Given the description of an element on the screen output the (x, y) to click on. 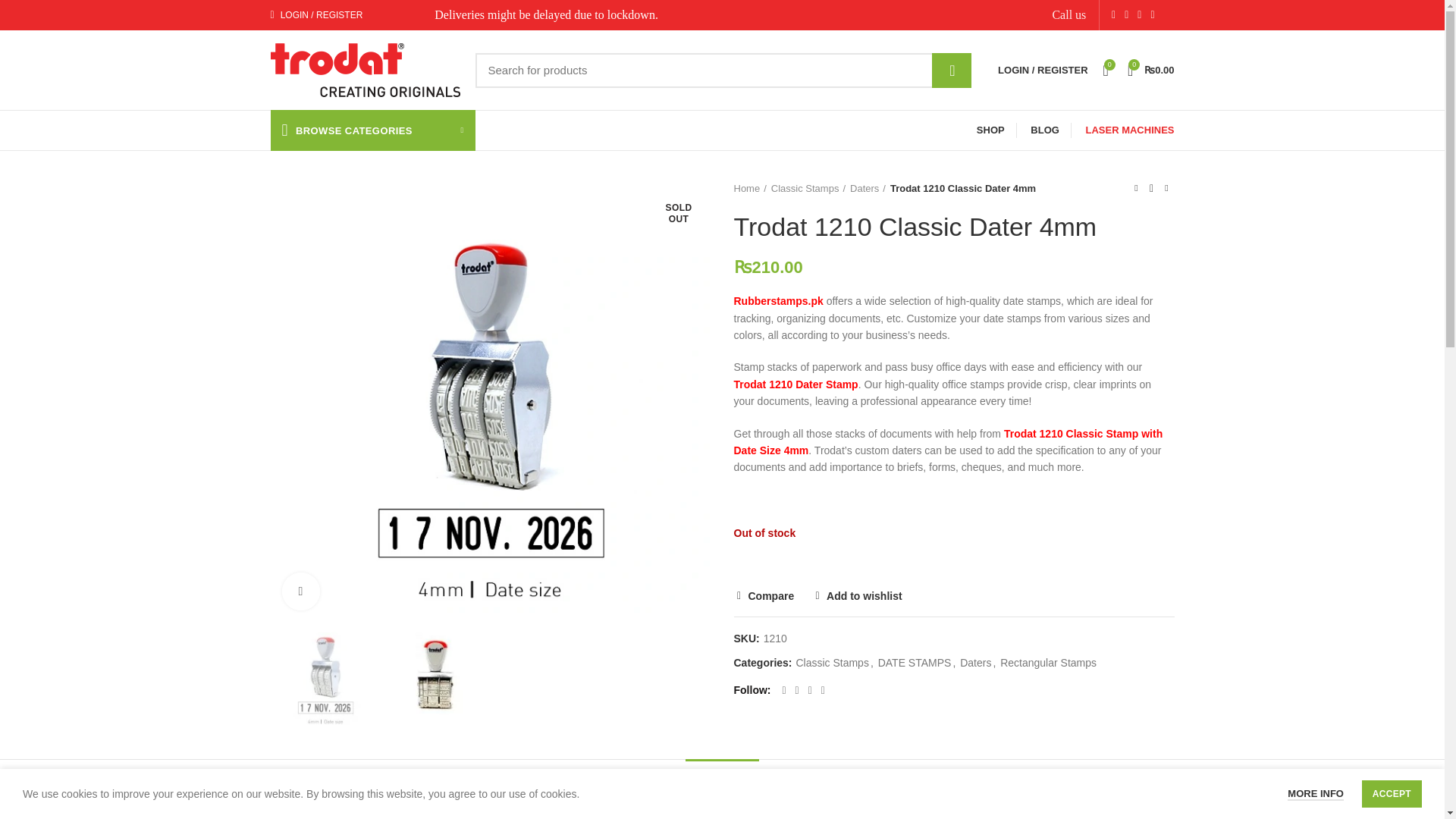
My account (315, 15)
Shopping cart (1150, 69)
Search for products (722, 70)
Call us (1068, 14)
Log in (395, 245)
SEARCH (951, 70)
1210-new (324, 674)
My account (1042, 69)
